Given the description of an element on the screen output the (x, y) to click on. 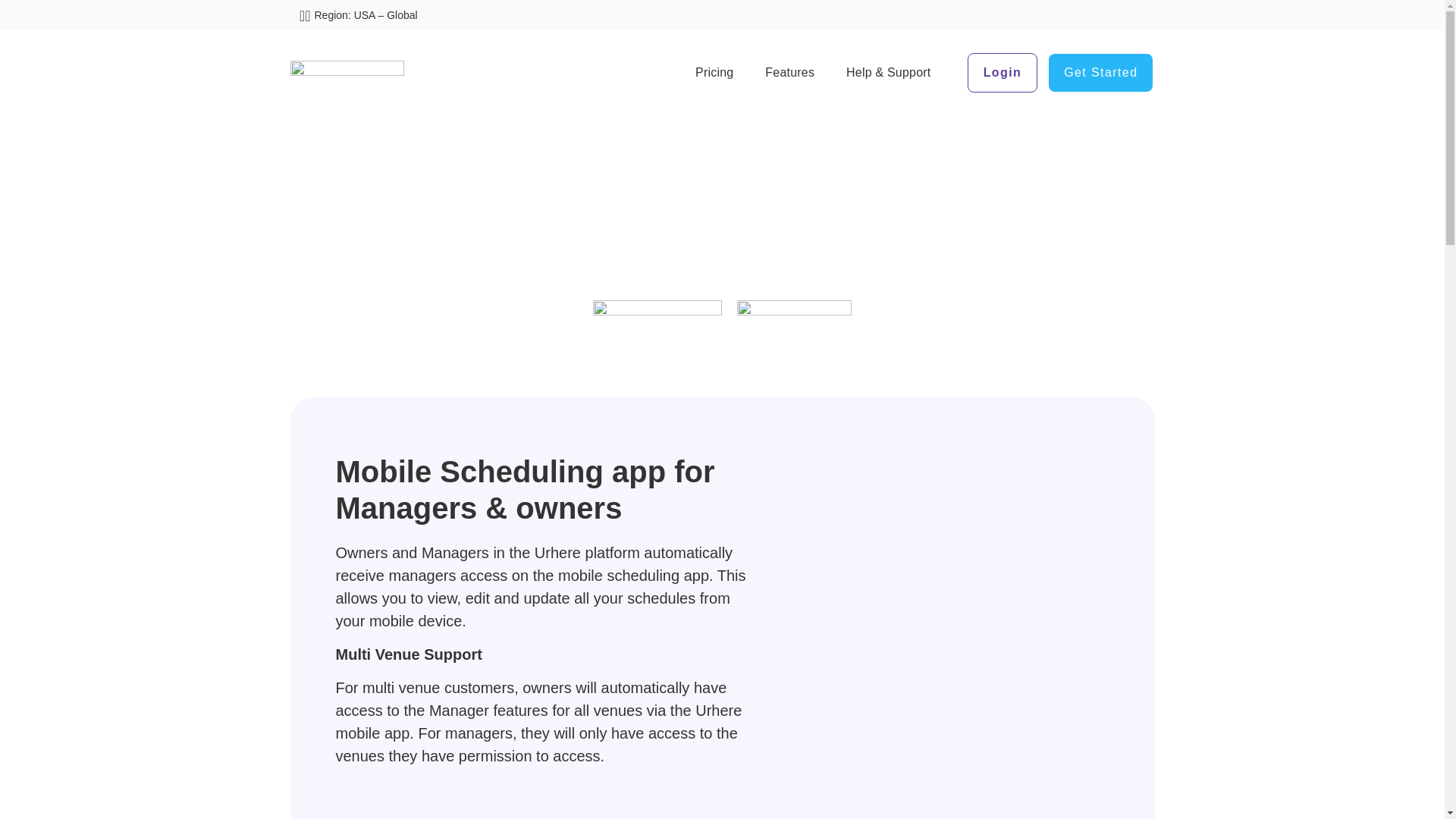
Pricing (714, 72)
Features (789, 72)
Get Started (1100, 72)
Login (1003, 72)
